Given the description of an element on the screen output the (x, y) to click on. 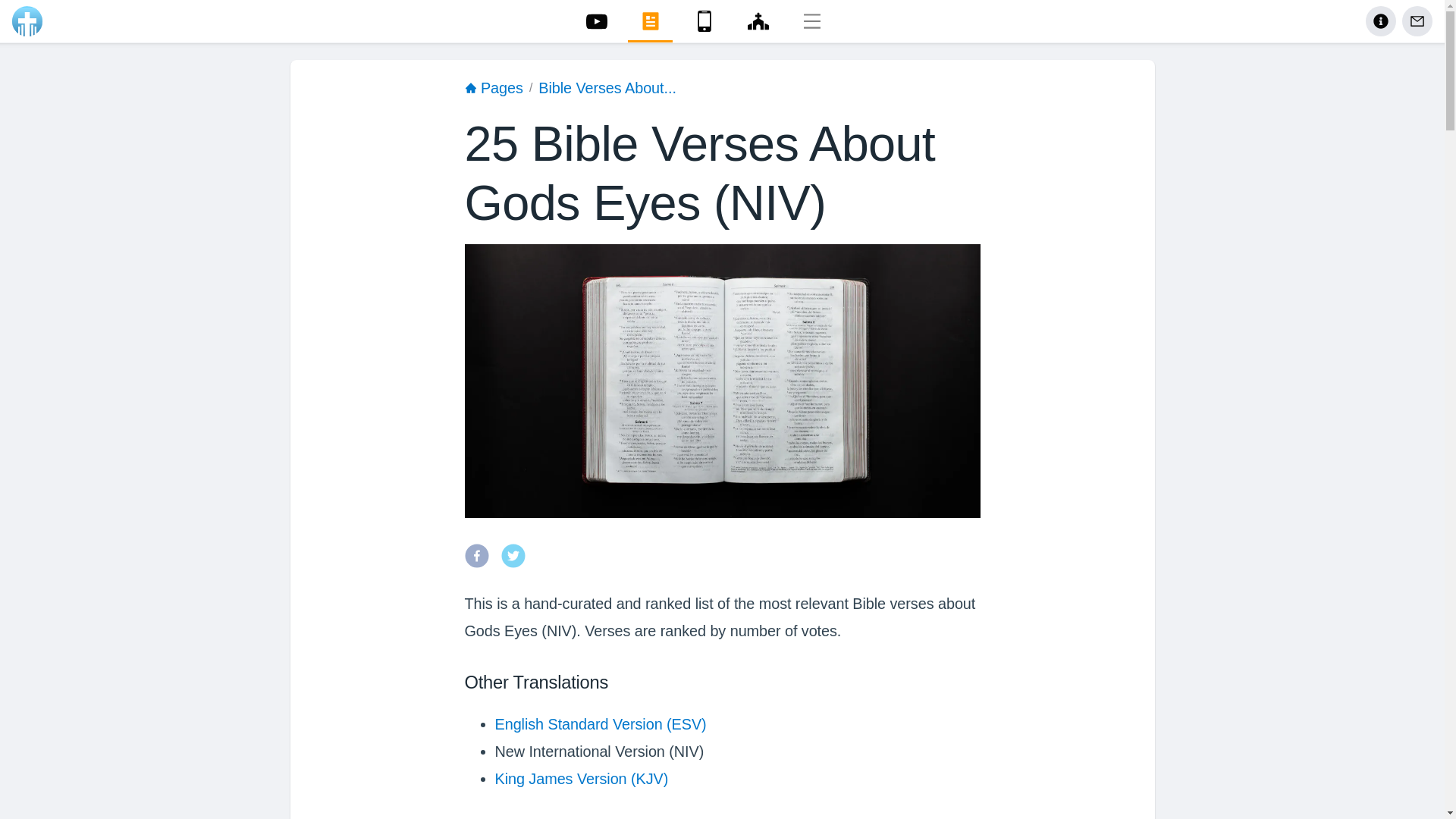
Bible Verses About... (607, 88)
Pages (493, 88)
